Given the description of an element on the screen output the (x, y) to click on. 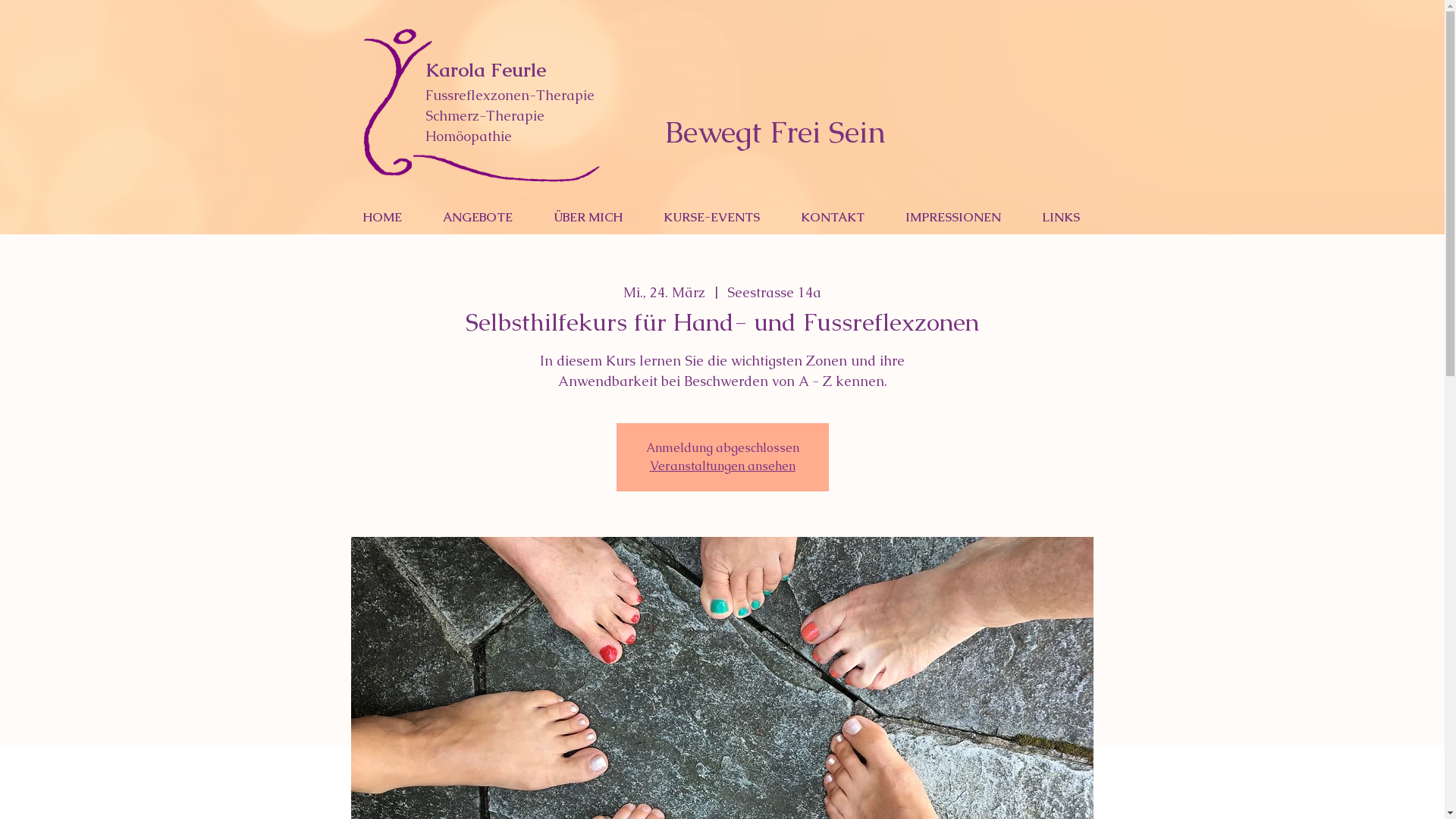
Veranstaltungen ansehen Element type: text (721, 465)
KURSE-EVENTS Element type: text (718, 217)
KONTAKT Element type: text (840, 217)
ANGEBOTE Element type: text (485, 217)
HOME Element type: text (389, 217)
LINKS Element type: text (1068, 217)
Bewegt Frei Sein Element type: text (774, 134)
IMPRESSIONEN Element type: text (961, 217)
